Given the description of an element on the screen output the (x, y) to click on. 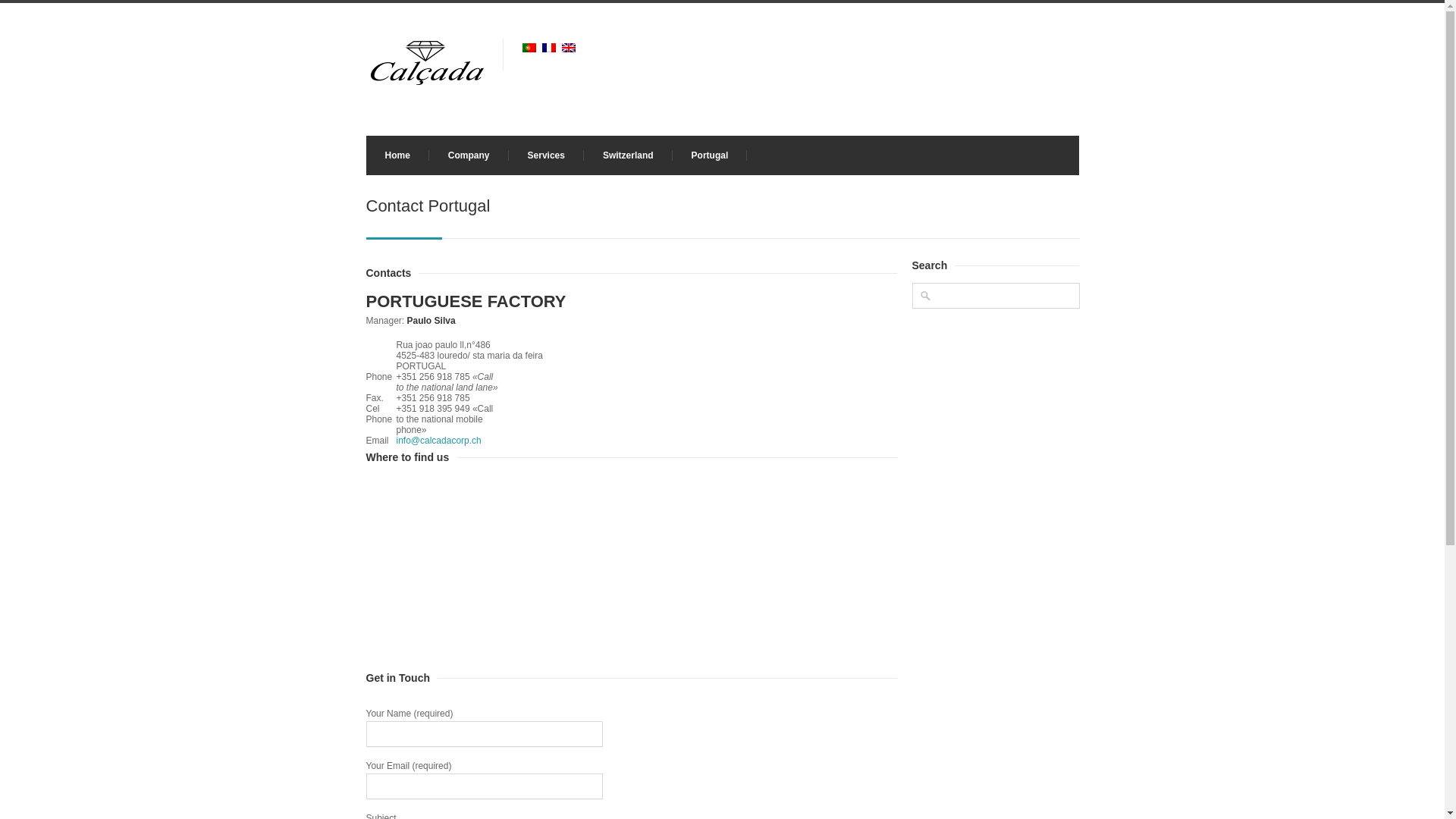
info@calcadacorp.ch Element type: text (437, 440)
  Element type: text (548, 46)
Portugal Element type: text (709, 155)
Company Element type: text (468, 155)
  Element type: text (567, 46)
  Element type: text (528, 46)
Home Element type: text (396, 155)
Switzerland Element type: text (627, 155)
Services Element type: text (545, 155)
English Element type: hover (568, 47)
